Given the description of an element on the screen output the (x, y) to click on. 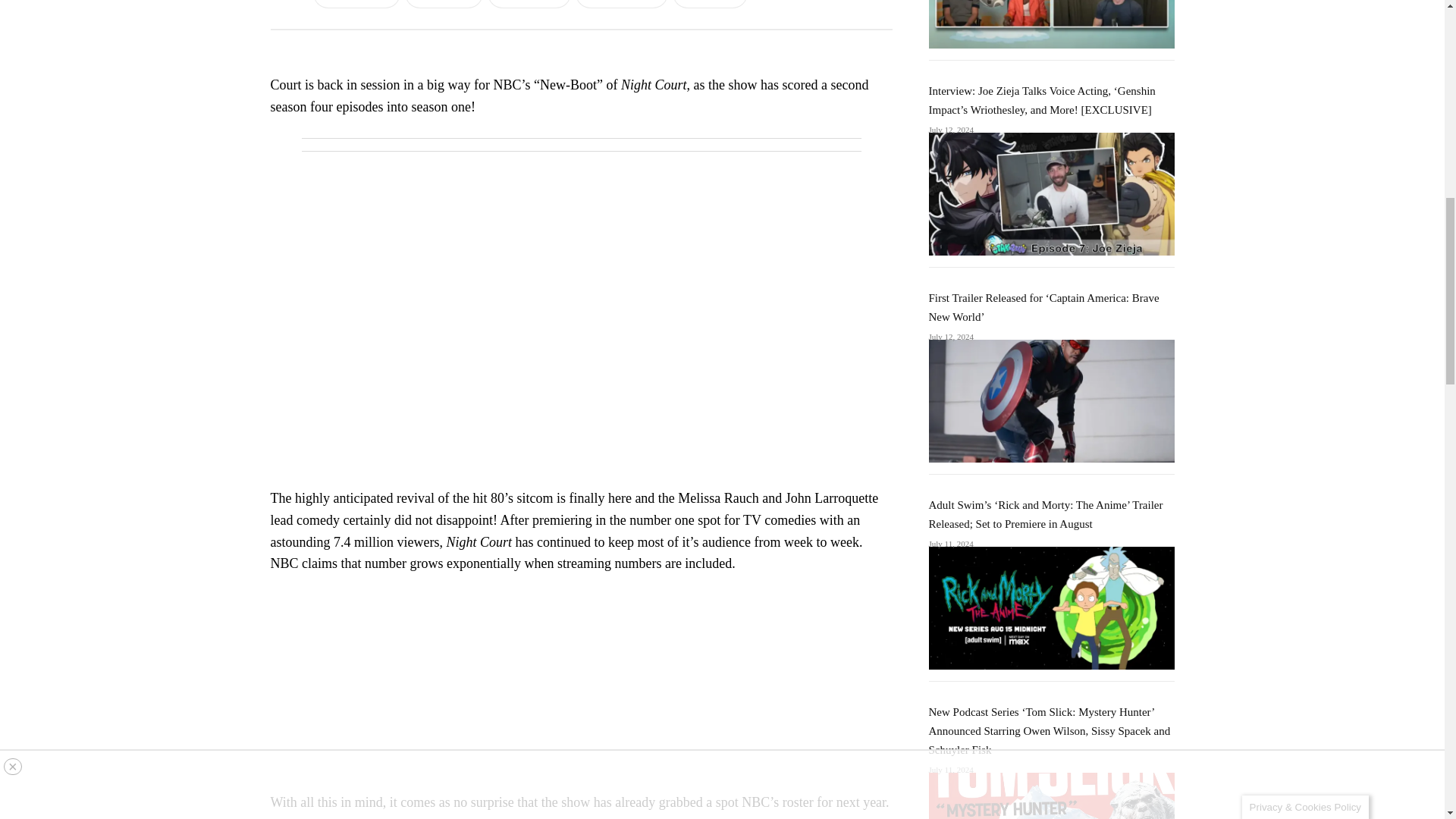
Twitter (443, 4)
Facebook (356, 4)
Pinterest (529, 4)
